Given the description of an element on the screen output the (x, y) to click on. 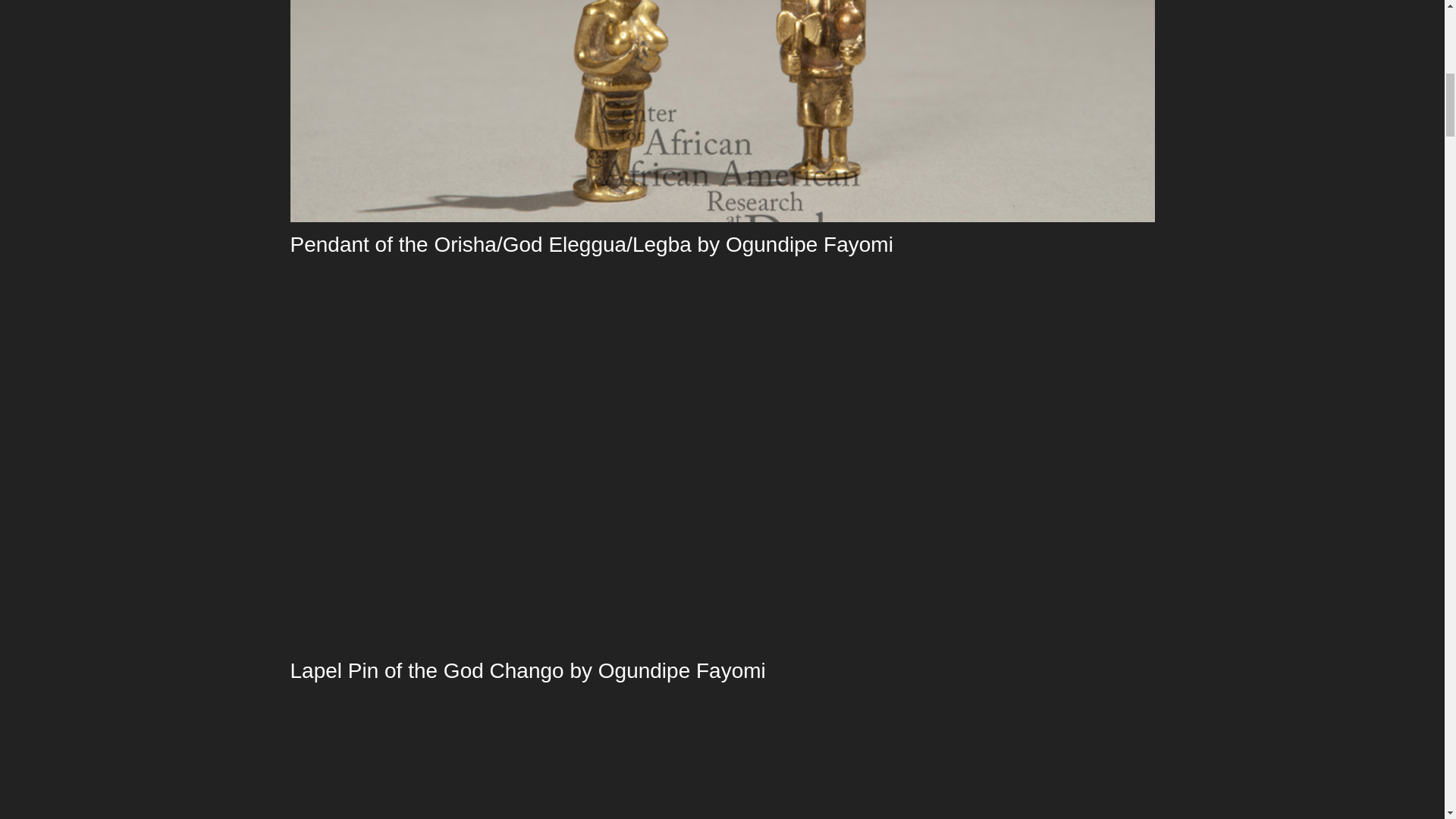
Lapel Pin of the God Chango by Ogundipe Fayomi (527, 670)
